Given the description of an element on the screen output the (x, y) to click on. 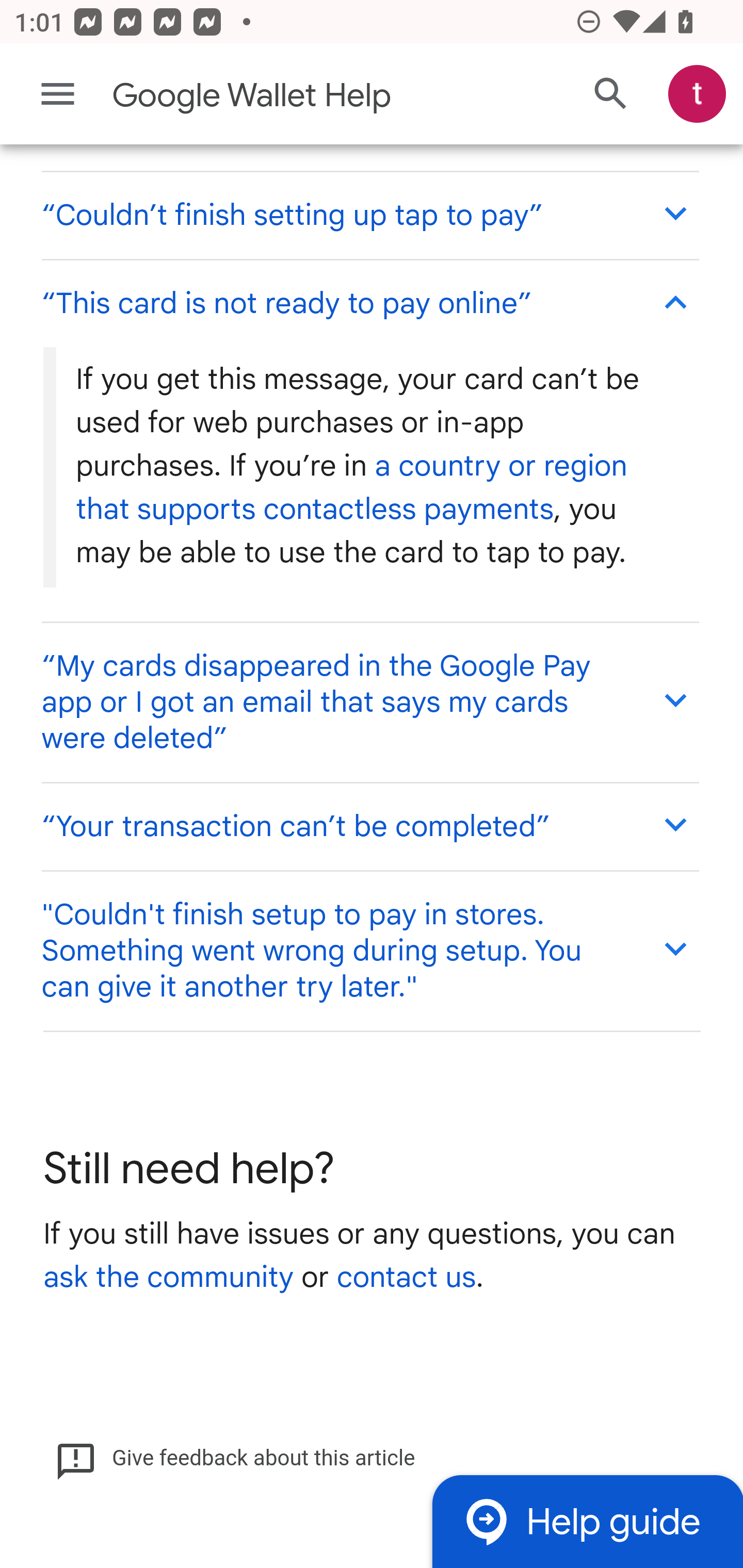
Main menu (58, 93)
Google Wallet Help (292, 96)
Search Help Center (611, 94)
“Couldn’t finish setting up tap to pay” (369, 214)
“This card is not ready to pay online” (369, 302)
“Your transaction can’t be completed” (369, 825)
ask the community (168, 1278)
contact us (406, 1278)
Give feedback about this article (235, 1459)
Help guide (587, 1520)
